Given the description of an element on the screen output the (x, y) to click on. 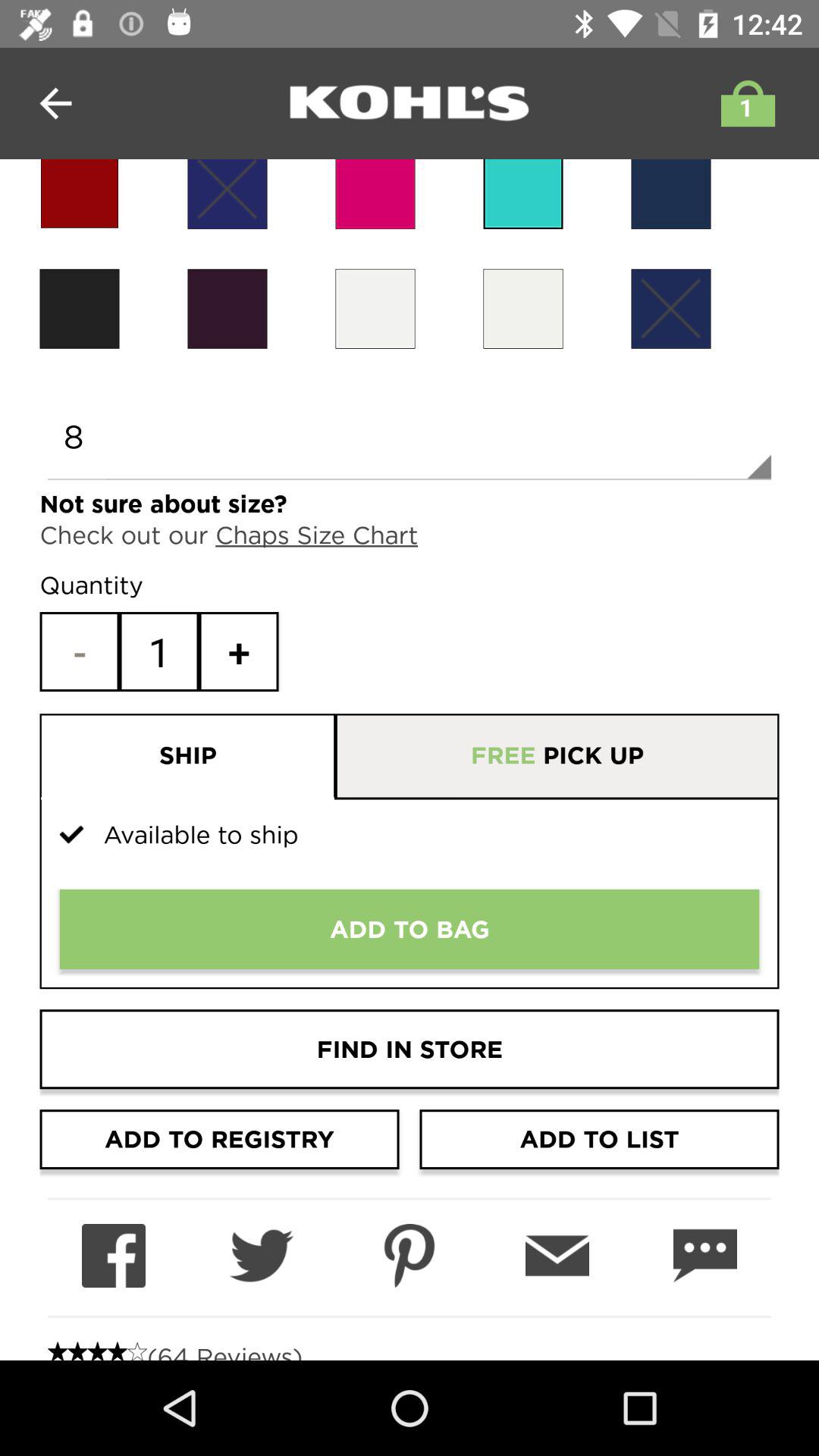
see colour blue (523, 194)
